Given the description of an element on the screen output the (x, y) to click on. 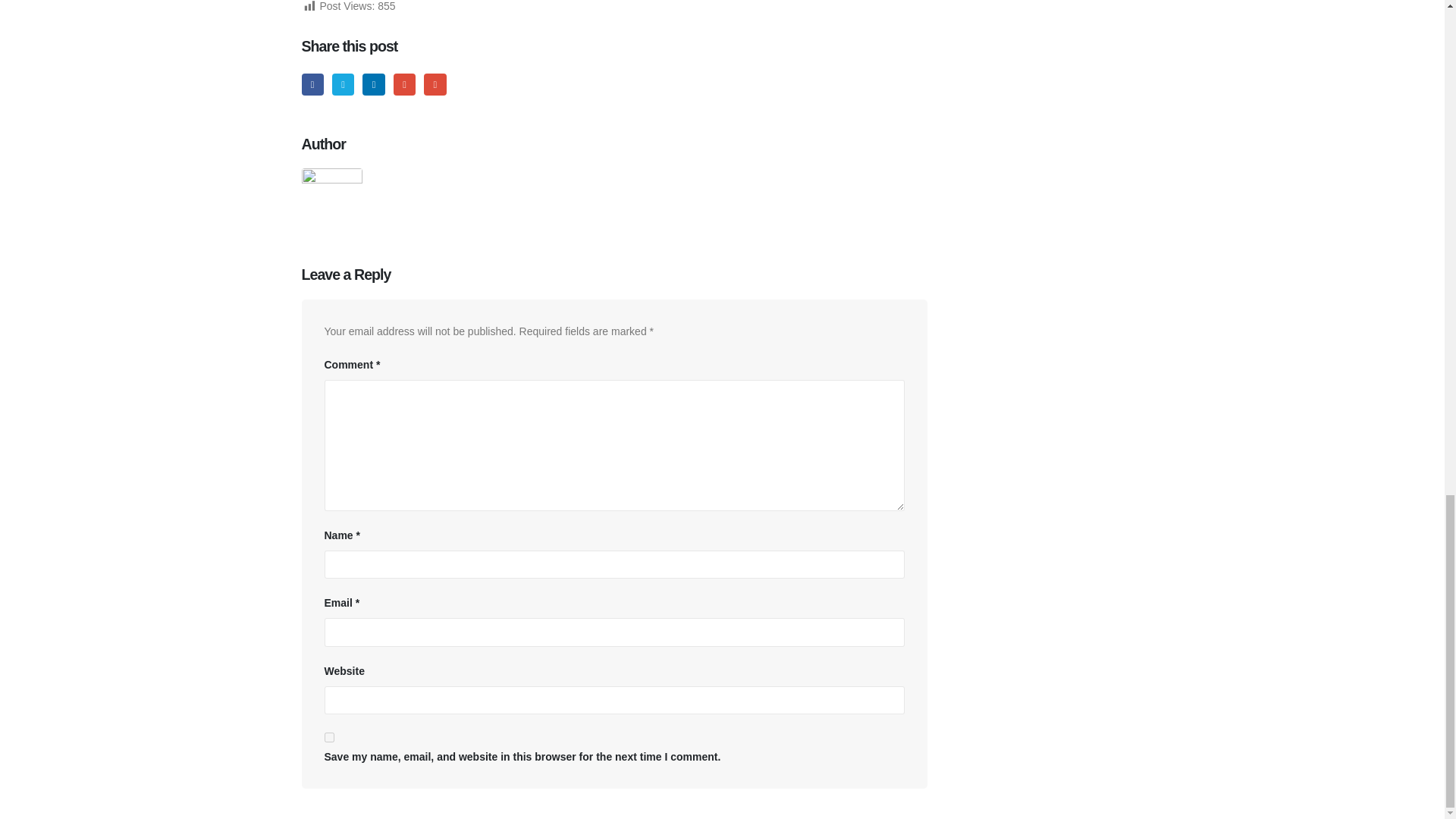
yes (329, 737)
Twitter (342, 84)
Email (434, 84)
Twitter (342, 84)
LinkedIn (373, 84)
Facebook (312, 84)
LinkedIn (373, 84)
Facebook (312, 84)
Email (434, 84)
